Given the description of an element on the screen output the (x, y) to click on. 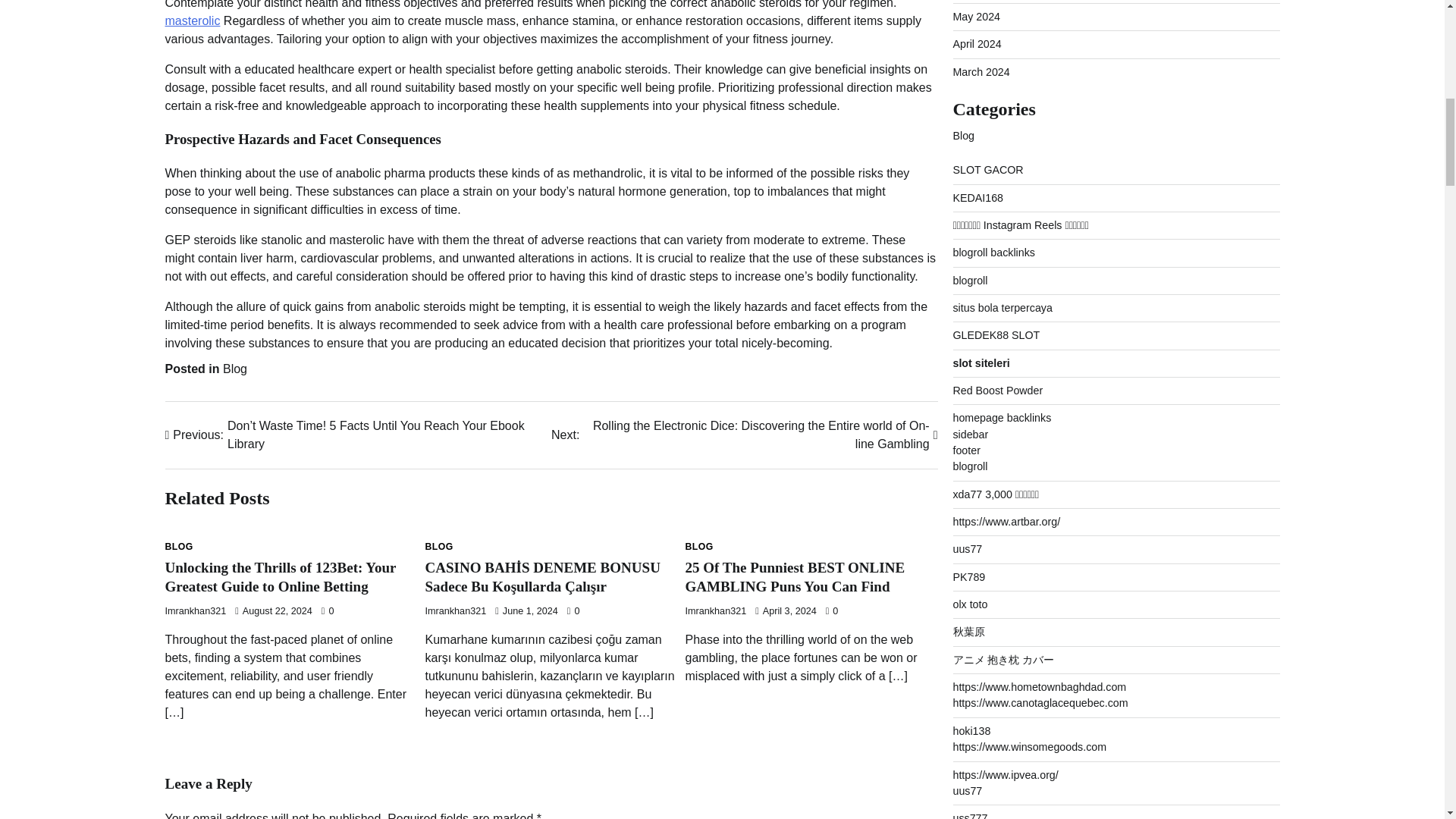
BLOG (179, 546)
Imrankhan321 (715, 611)
Imrankhan321 (455, 611)
BLOG (438, 546)
Blog (234, 368)
Imrankhan321 (196, 611)
BLOG (699, 546)
25 Of The Punniest BEST ONLINE GAMBLING Puns You Can Find (795, 576)
